Given the description of an element on the screen output the (x, y) to click on. 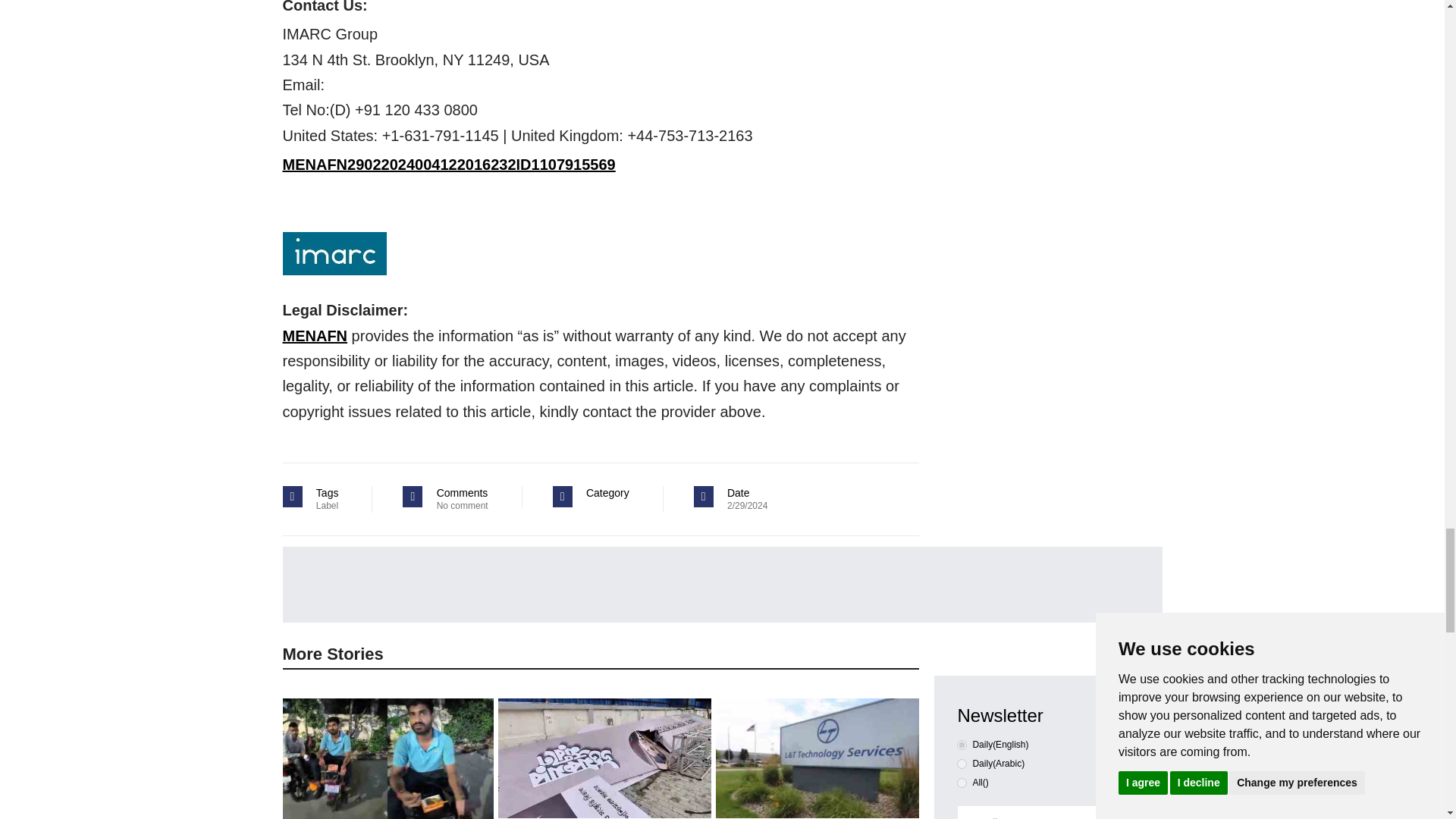
0 (961, 745)
2 (961, 782)
Advertisement (733, 584)
1 (961, 764)
